Given the description of an element on the screen output the (x, y) to click on. 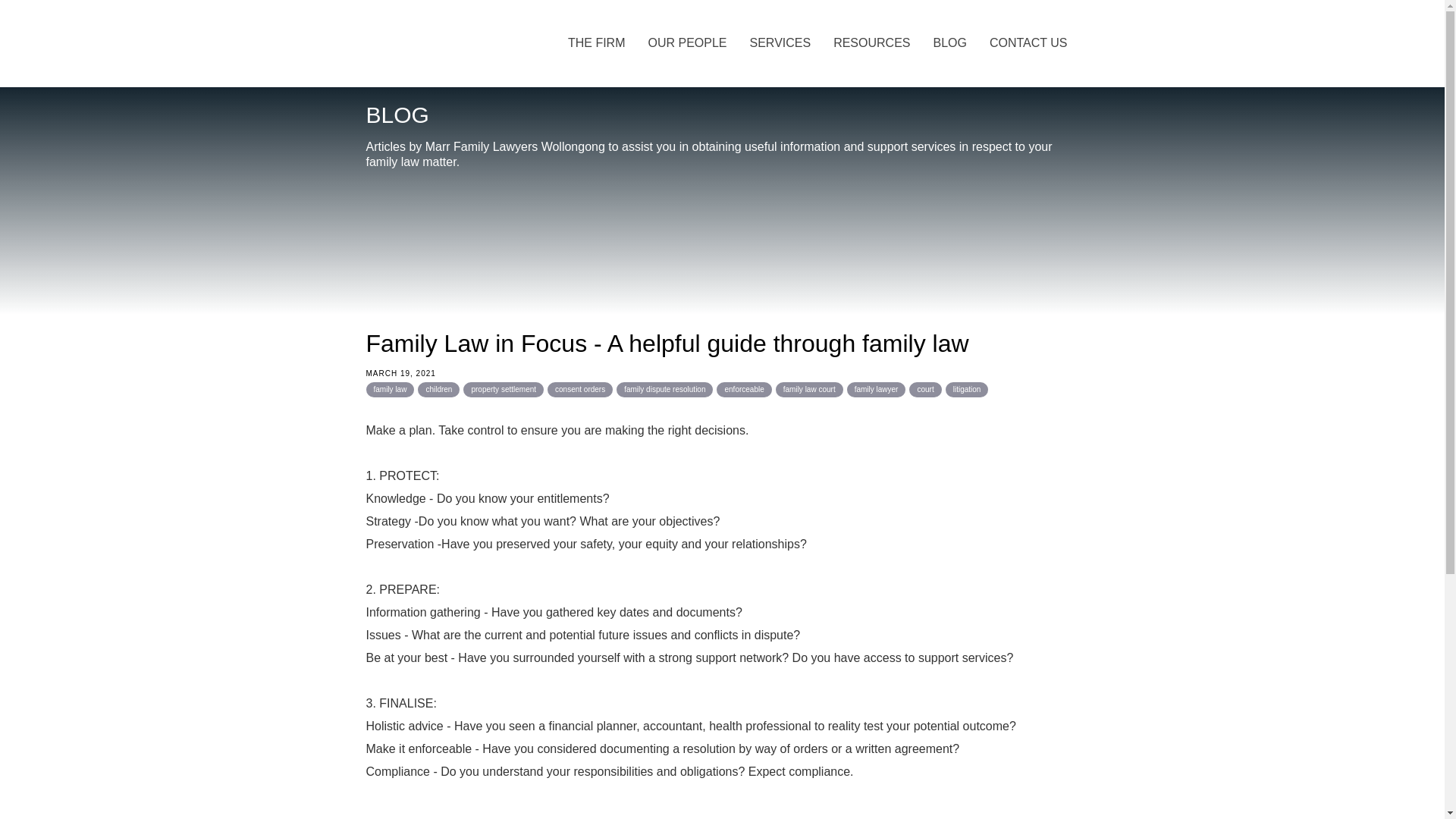
SERVICES Element type: text (780, 43)
OUR PEOPLE Element type: text (686, 43)
RESOURCES Element type: text (871, 43)
CONTACT US Element type: text (1028, 43)
THE FIRM Element type: text (596, 43)
BLOG Element type: text (950, 43)
